Given the description of an element on the screen output the (x, y) to click on. 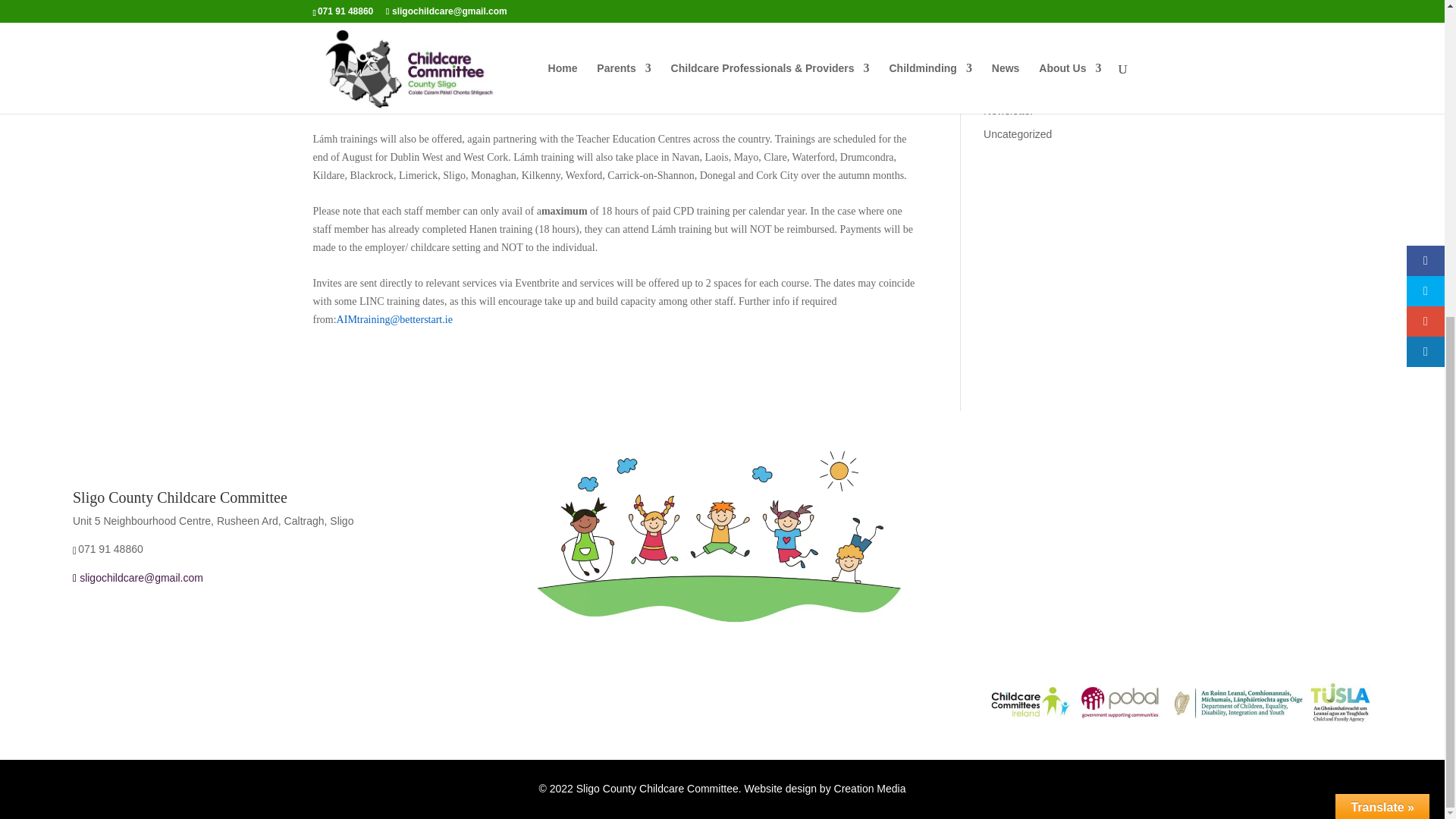
footer-graphic (721, 535)
footer-logos-new (1179, 701)
